Given the description of an element on the screen output the (x, y) to click on. 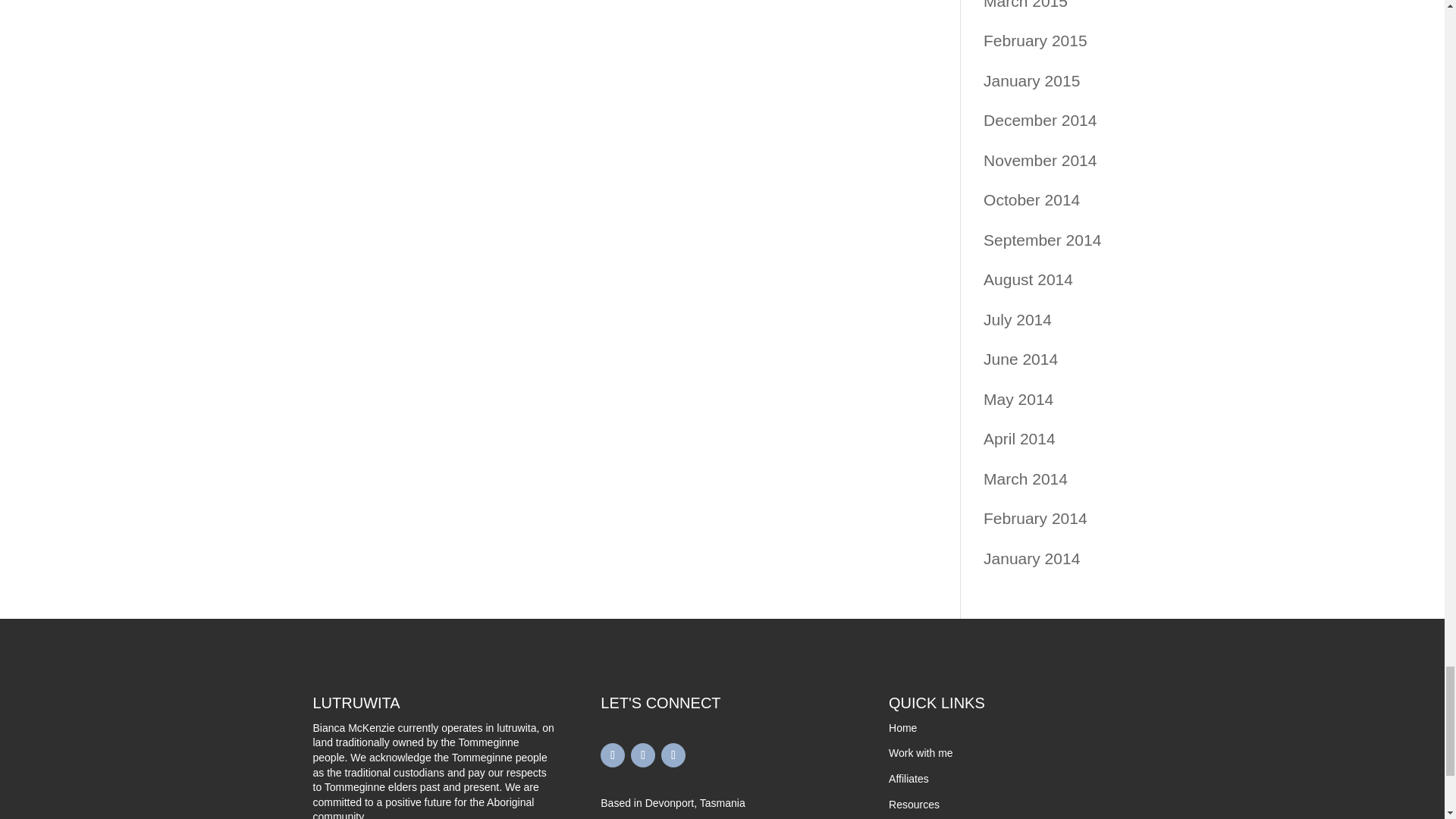
Follow on Facebook (611, 754)
Follow on Instagram (642, 754)
Follow on Pinterest (673, 754)
